Given the description of an element on the screen output the (x, y) to click on. 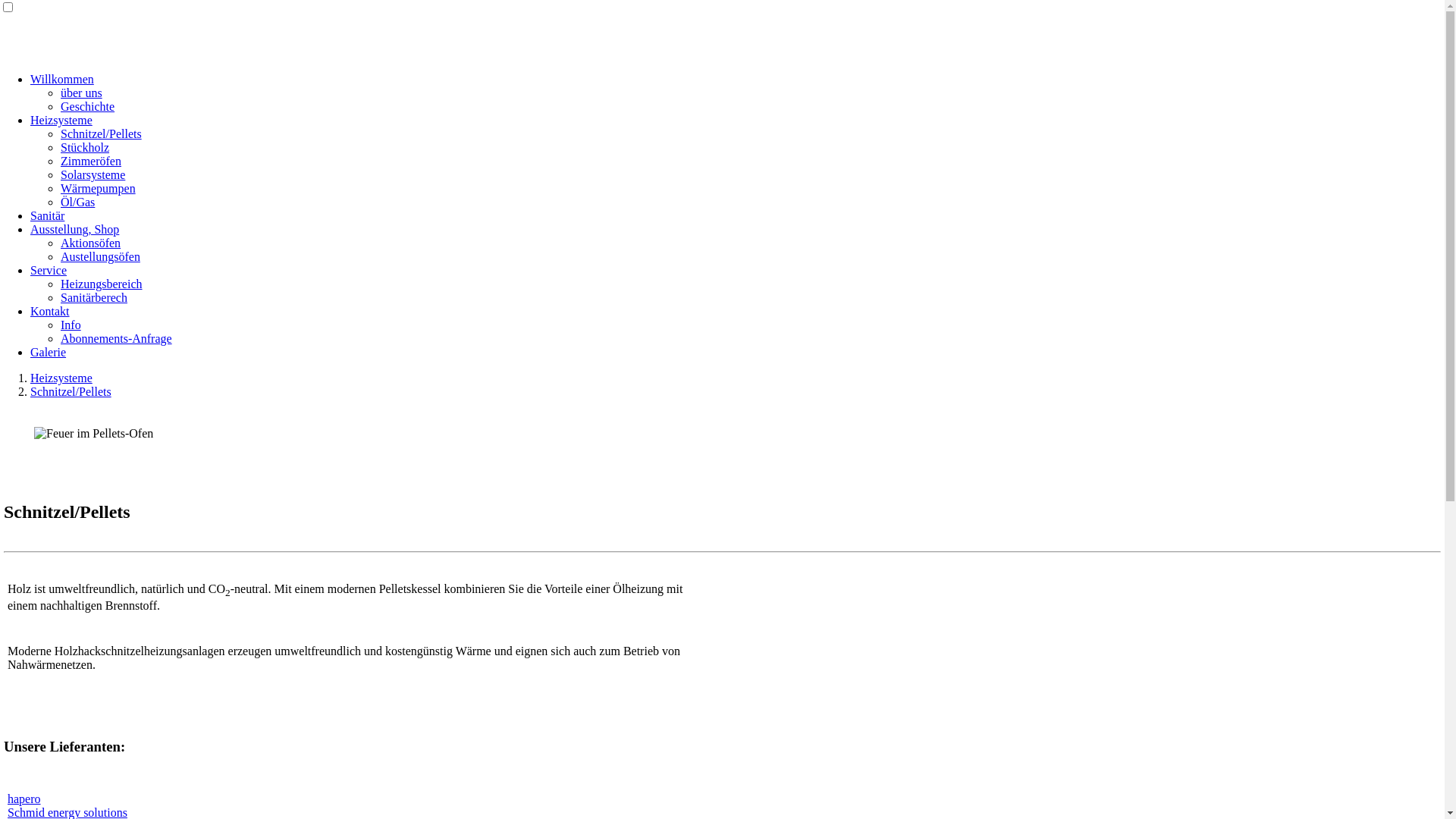
Service Element type: text (48, 269)
Solarsysteme Element type: text (92, 174)
hapero Element type: text (23, 798)
Ausstellung, Shop Element type: text (74, 228)
Galerie Element type: text (47, 351)
Geschichte Element type: text (87, 106)
Heizungsbereich Element type: text (101, 283)
Abonnements-Anfrage Element type: text (116, 338)
Heizsysteme Element type: text (61, 119)
Heizsysteme Element type: text (61, 377)
Kontakt Element type: text (49, 310)
Schnitzel/Pellets Element type: text (100, 133)
Schnitzel/Pellets Element type: text (70, 391)
Info Element type: text (70, 324)
Willkommen Element type: text (62, 78)
